Given the description of an element on the screen output the (x, y) to click on. 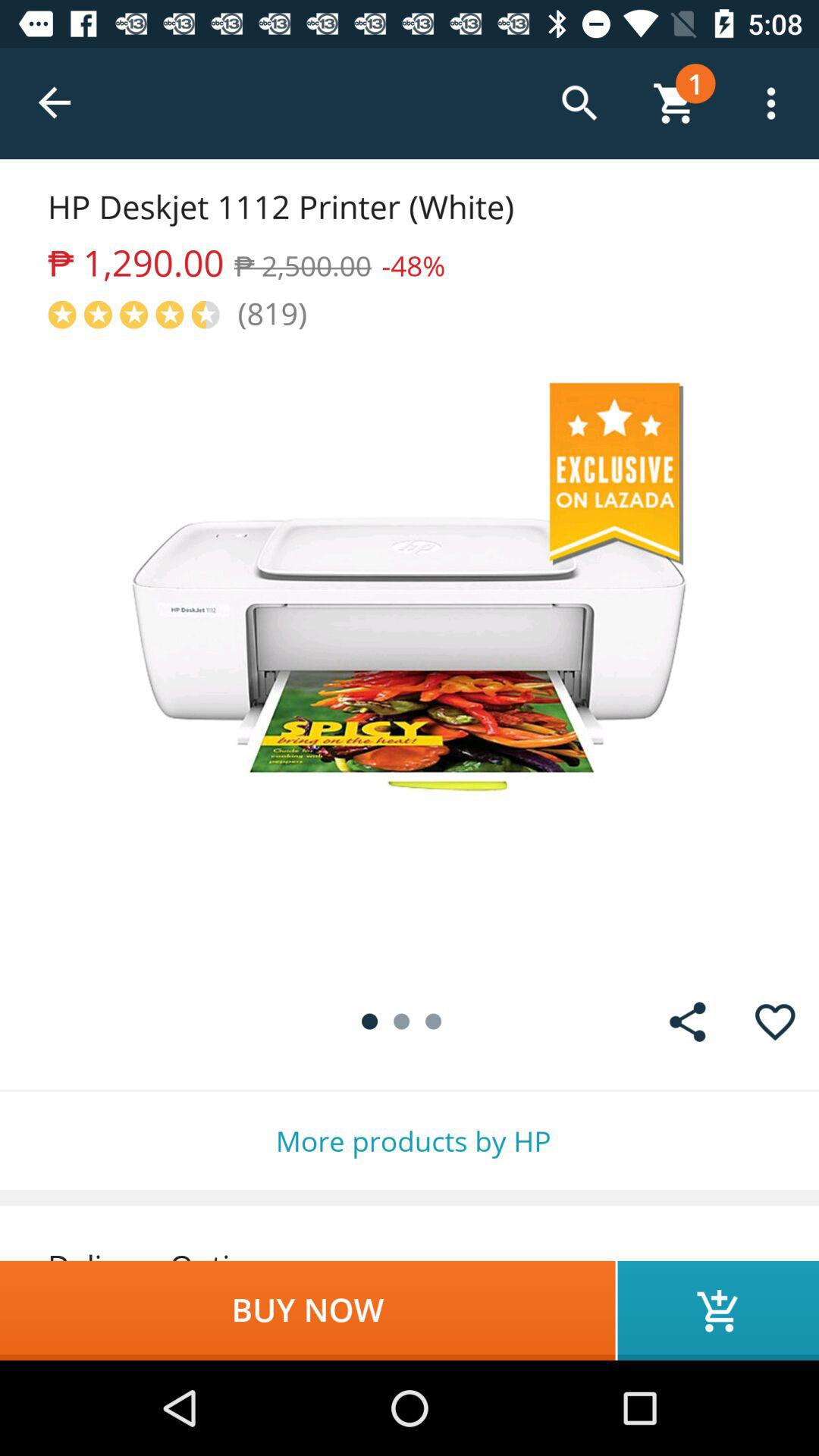
add to wishlist (775, 1021)
